Given the description of an element on the screen output the (x, y) to click on. 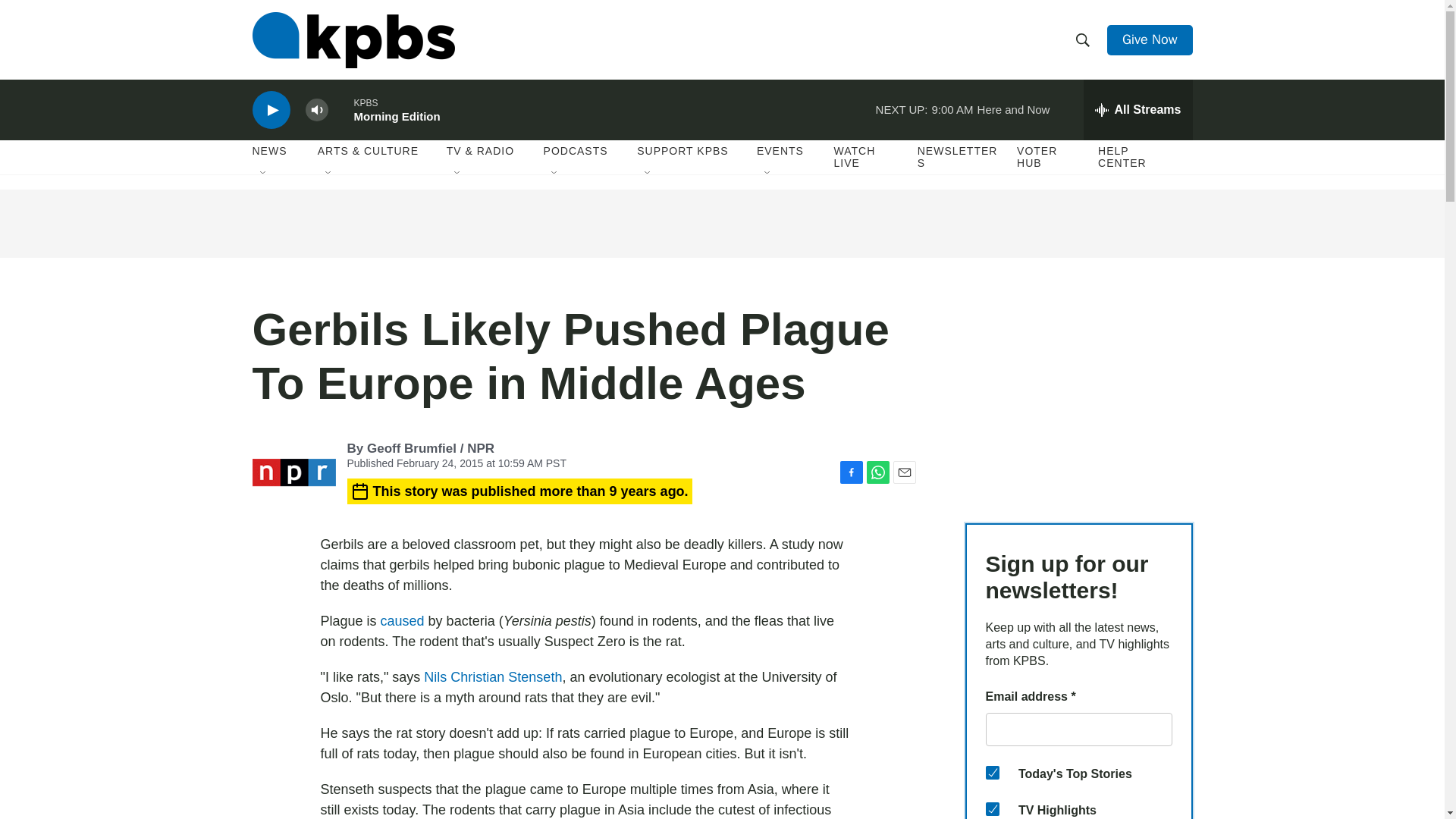
4 (991, 772)
5 (991, 808)
